Given the description of an element on the screen output the (x, y) to click on. 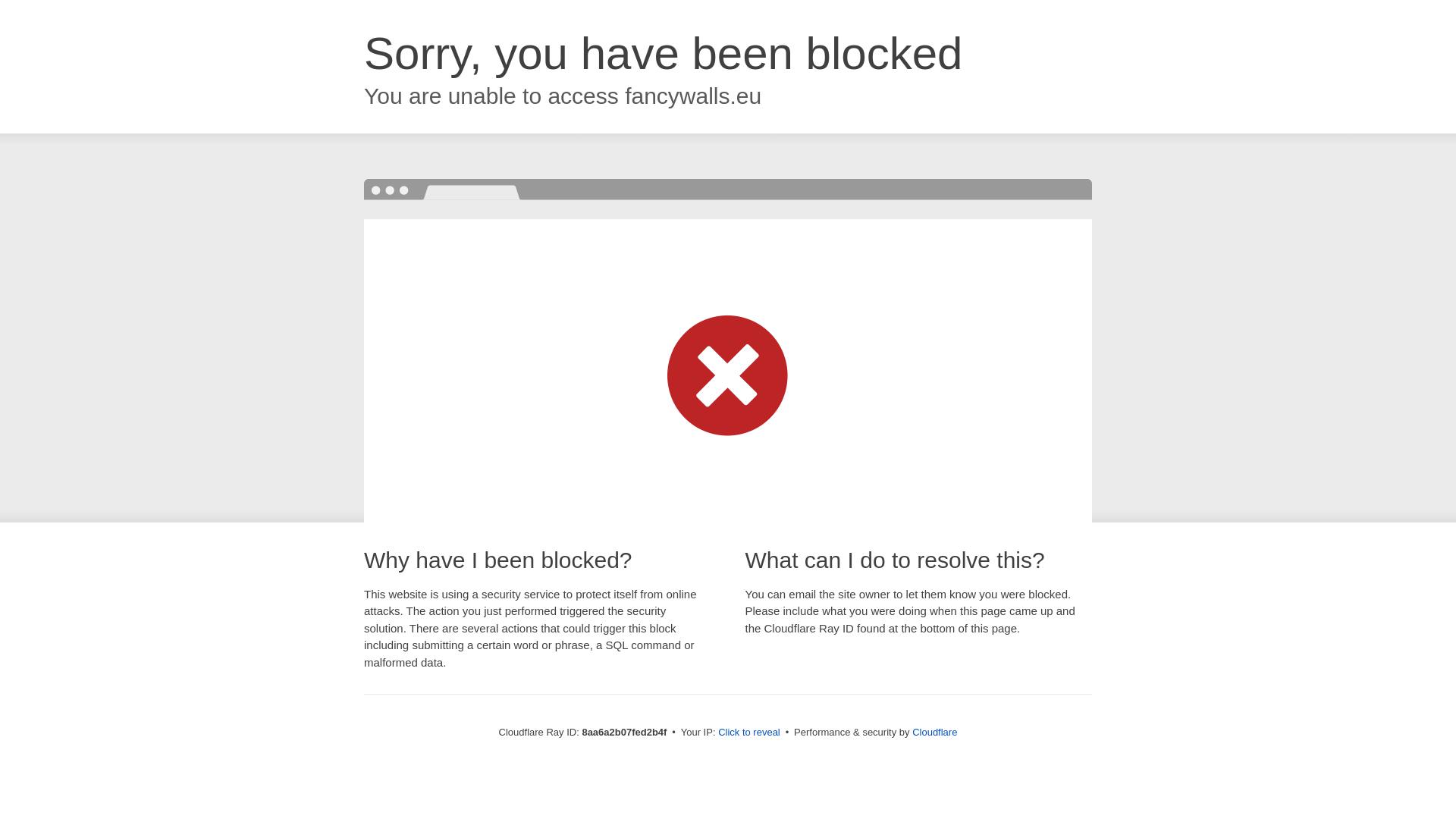
Click to reveal (748, 732)
Cloudflare (934, 731)
